Given the description of an element on the screen output the (x, y) to click on. 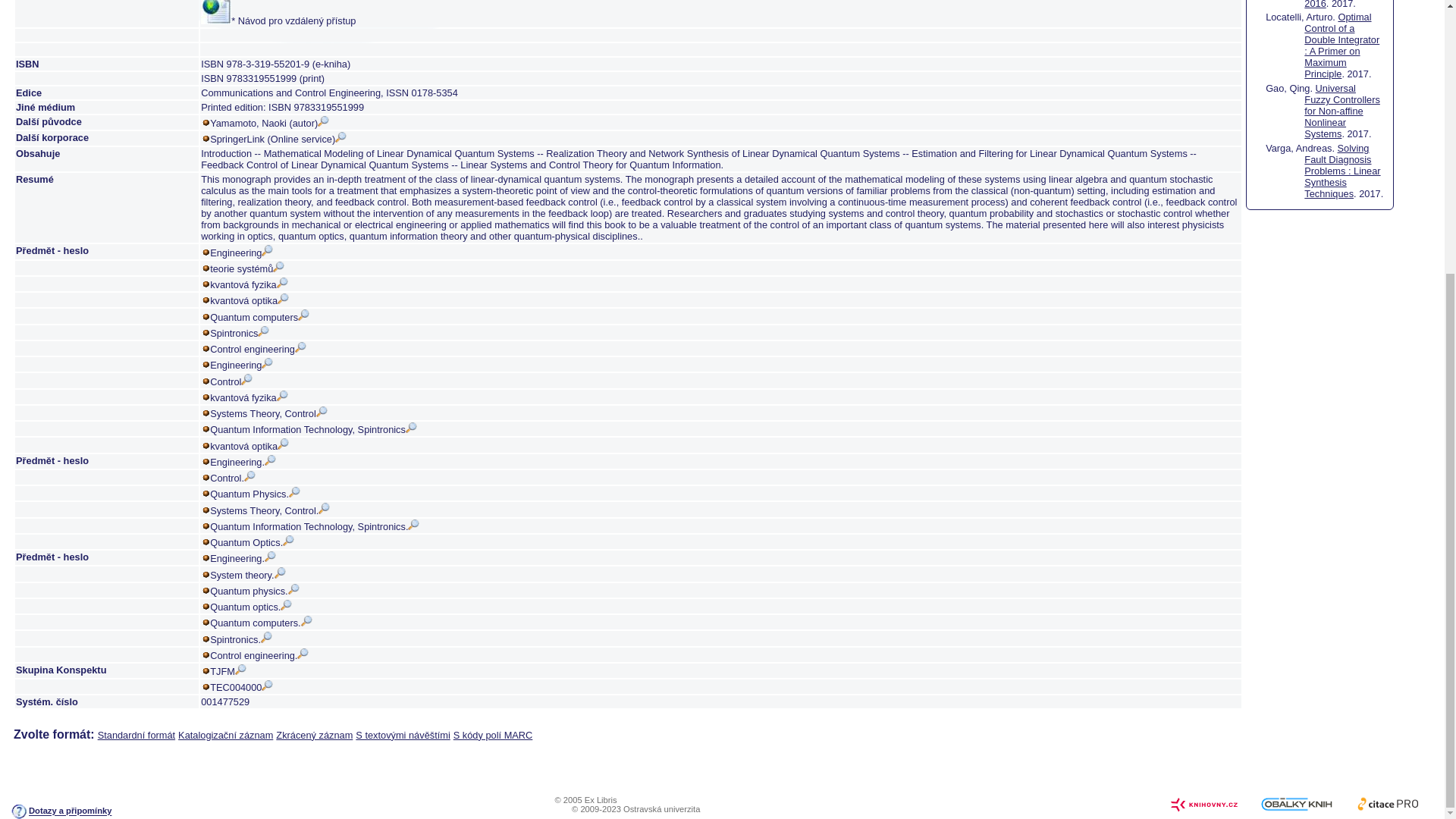
Systems Theory, Control. (269, 510)
Spintronics. (240, 639)
Quantum Optics. (251, 542)
Quantum computers (258, 317)
Control. (232, 478)
Engineering. (242, 558)
Quantum physics. (253, 591)
Quantum Information Technology, Spintronics. (314, 526)
Systems Theory, Control (268, 413)
Engineering (241, 252)
Control engineering (257, 348)
Control (230, 381)
Control engineering. (258, 655)
Engineering (241, 365)
Quantum optics. (250, 606)
